Given the description of an element on the screen output the (x, y) to click on. 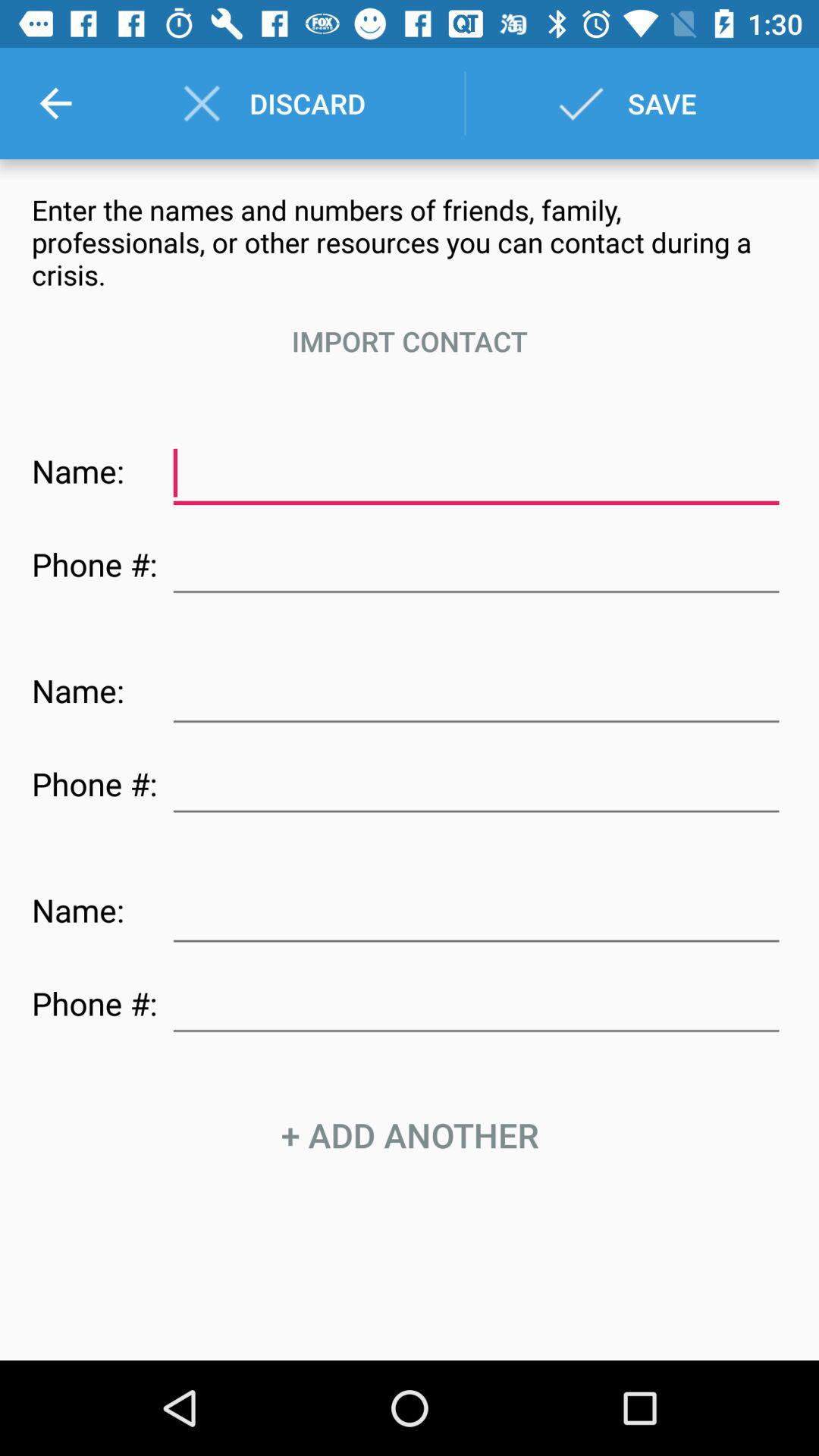
turn on import contact item (409, 341)
